Given the description of an element on the screen output the (x, y) to click on. 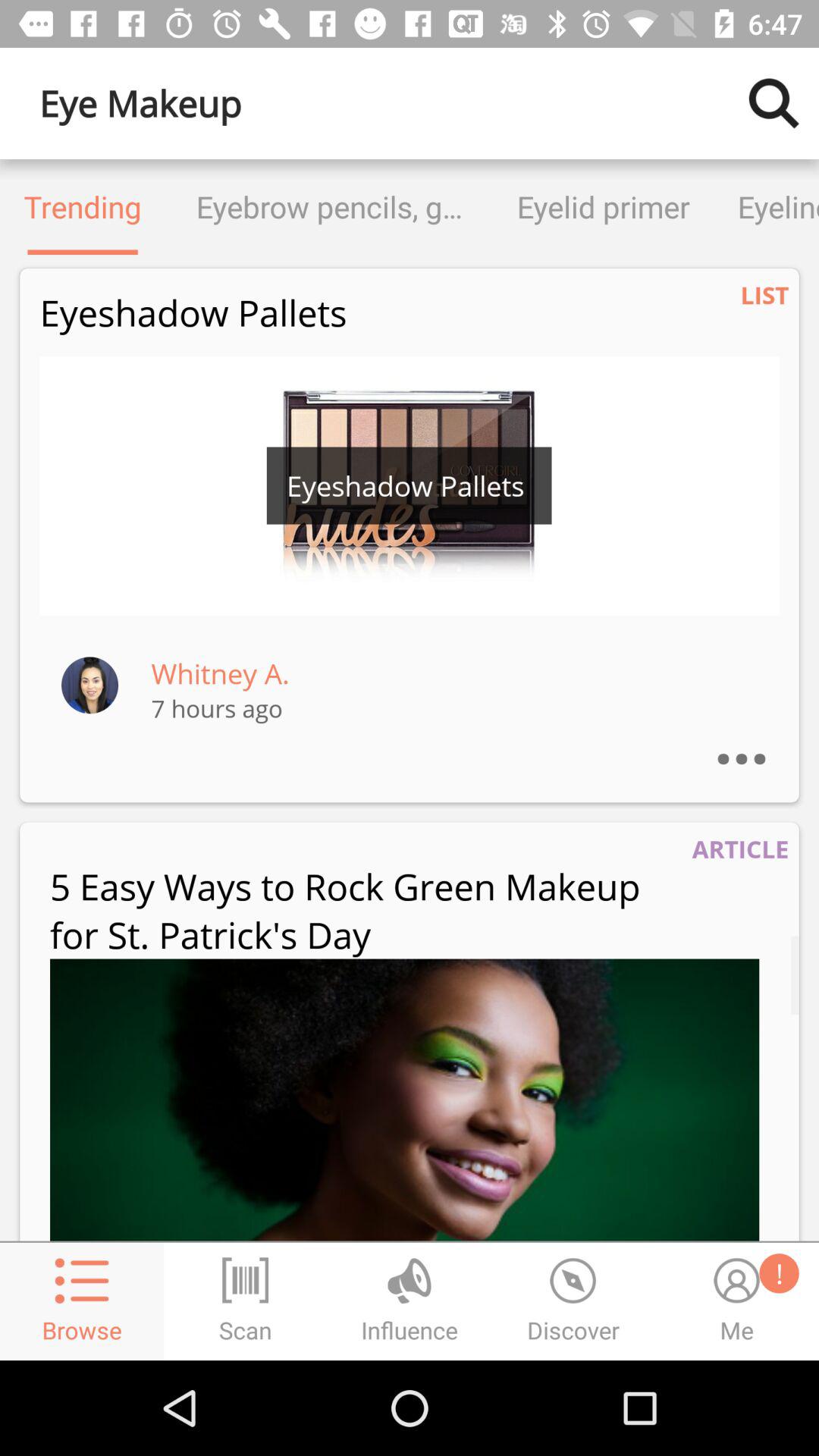
open the icon to the right of the eye makeup (773, 103)
